Given the description of an element on the screen output the (x, y) to click on. 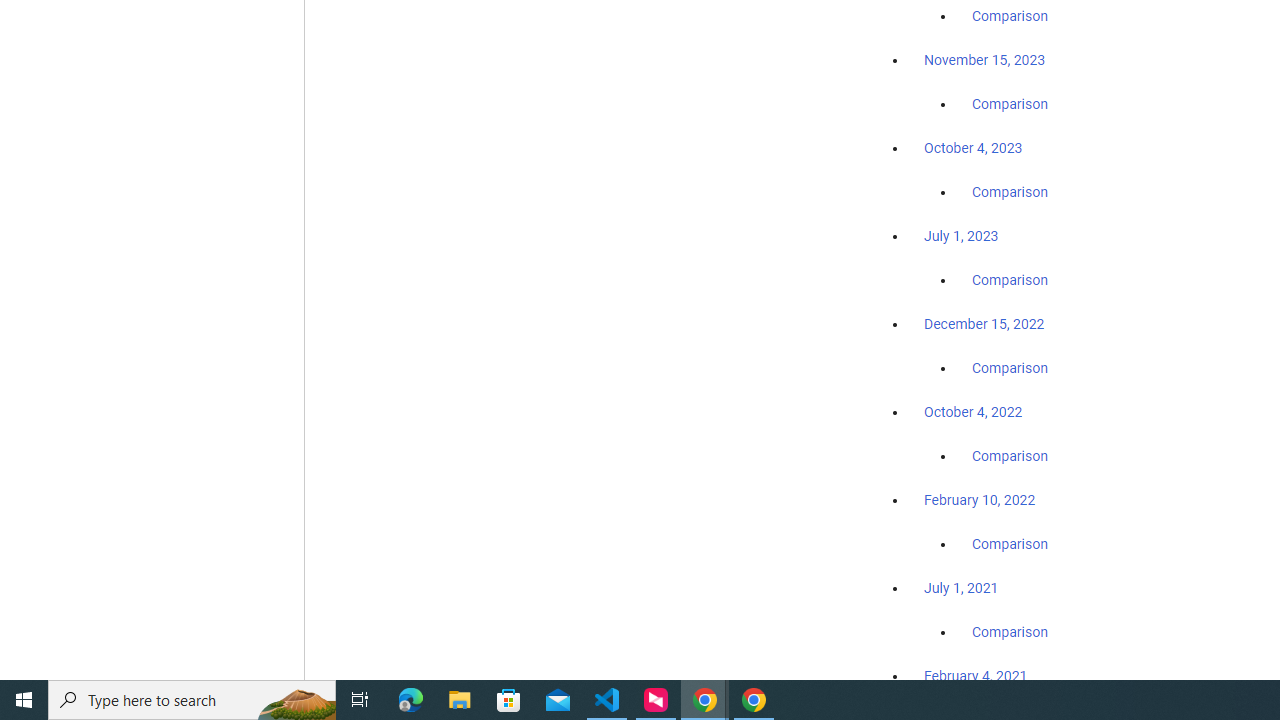
February 10, 2022 (979, 500)
Comparison (1009, 631)
July 1, 2021 (961, 587)
July 1, 2023 (961, 236)
November 15, 2023 (984, 60)
February 4, 2021 (975, 675)
October 4, 2022 (973, 412)
October 4, 2023 (973, 148)
December 15, 2022 (984, 323)
